Given the description of an element on the screen output the (x, y) to click on. 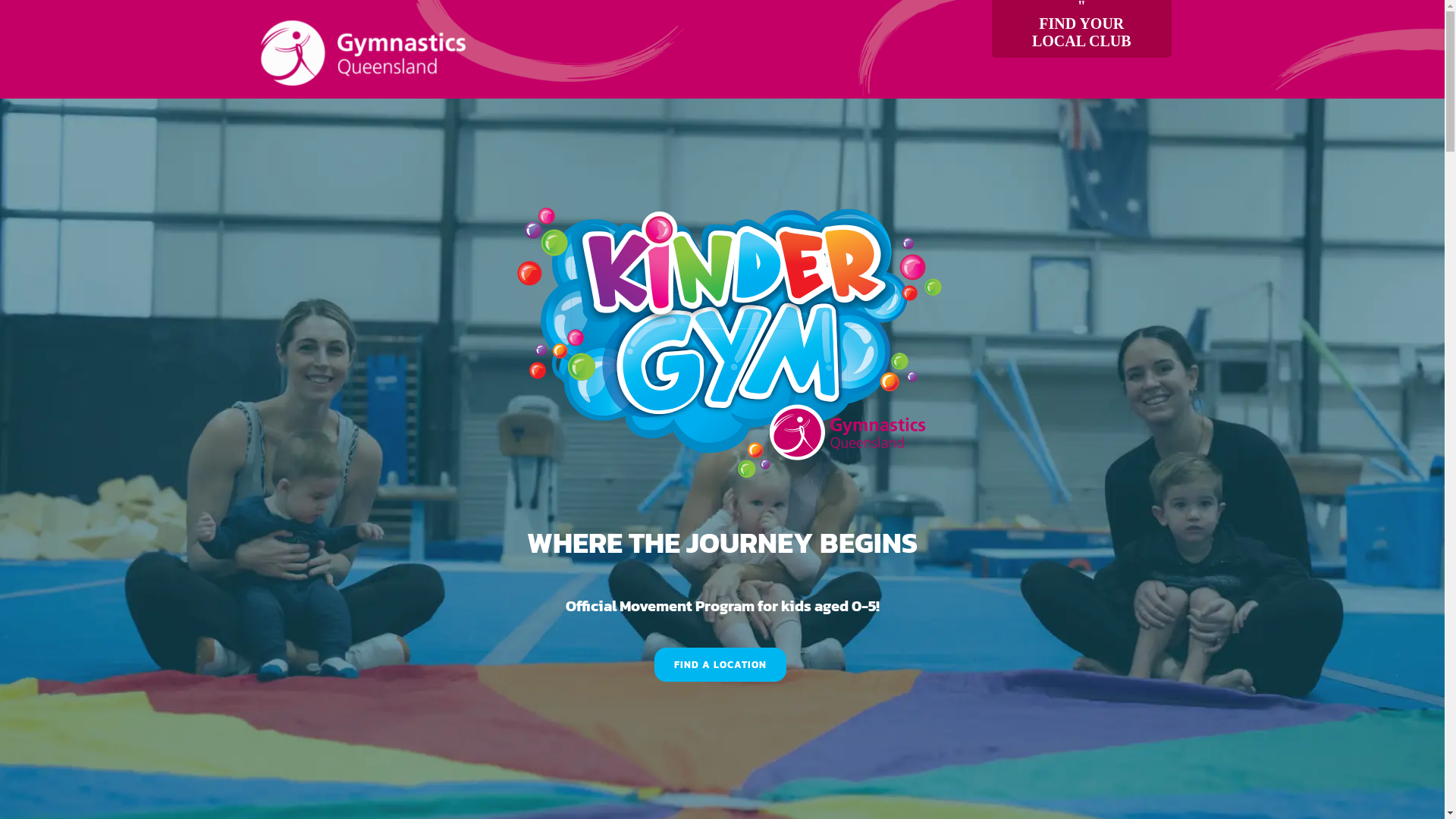
FIND A LOCATION Element type: text (720, 664)
KinderGym logo (600x390) Element type: hover (721, 341)
